Given the description of an element on the screen output the (x, y) to click on. 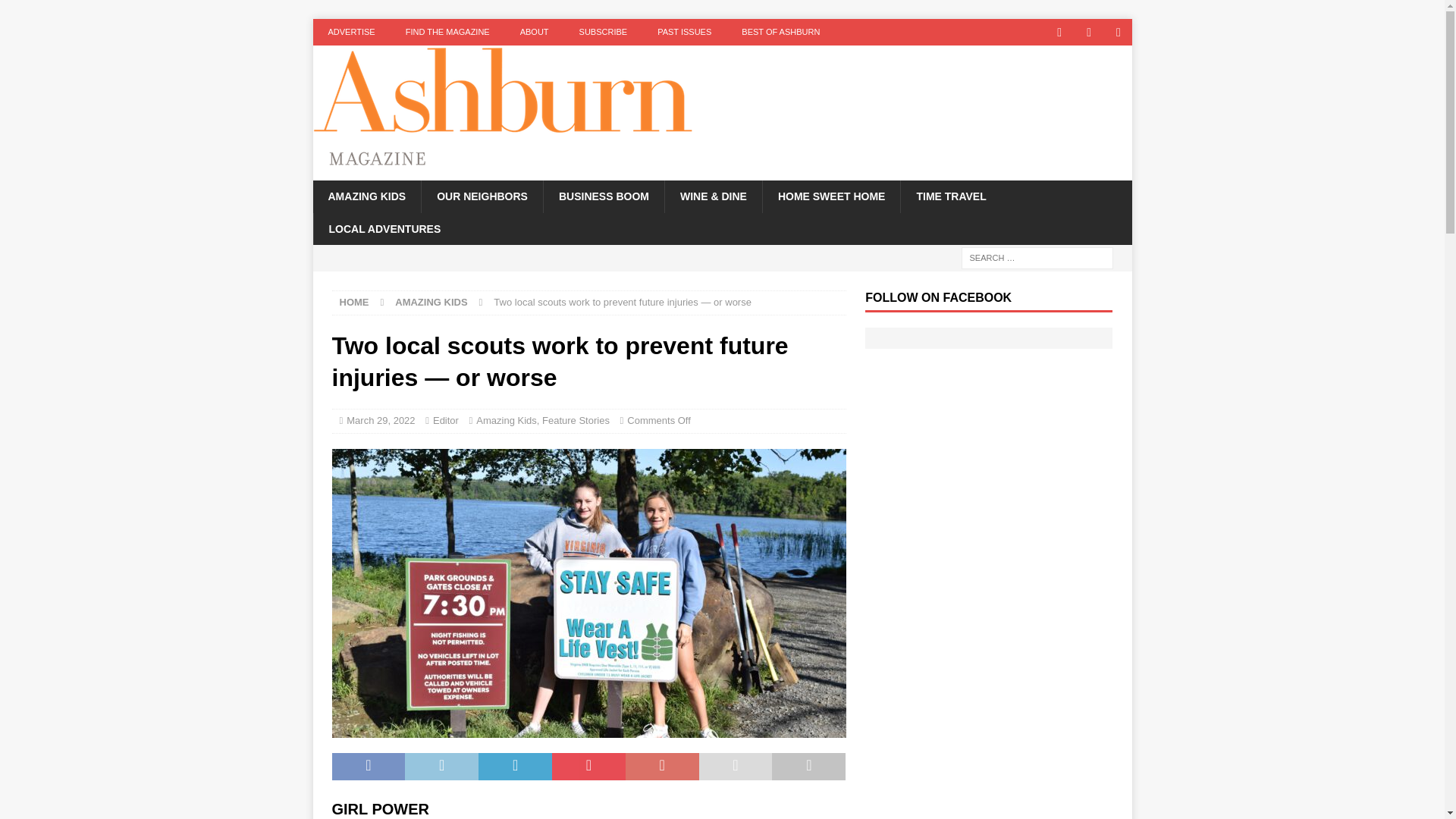
HOME SWEET HOME (831, 196)
AMAZING KIDS (430, 301)
ABOUT (534, 31)
Editor (445, 419)
March 29, 2022 (380, 419)
FIND THE MAGAZINE (447, 31)
PAST ISSUES (684, 31)
OUR NEIGHBORS (481, 196)
BEST OF ASHBURN (780, 31)
TIME TRAVEL (950, 196)
